Given the description of an element on the screen output the (x, y) to click on. 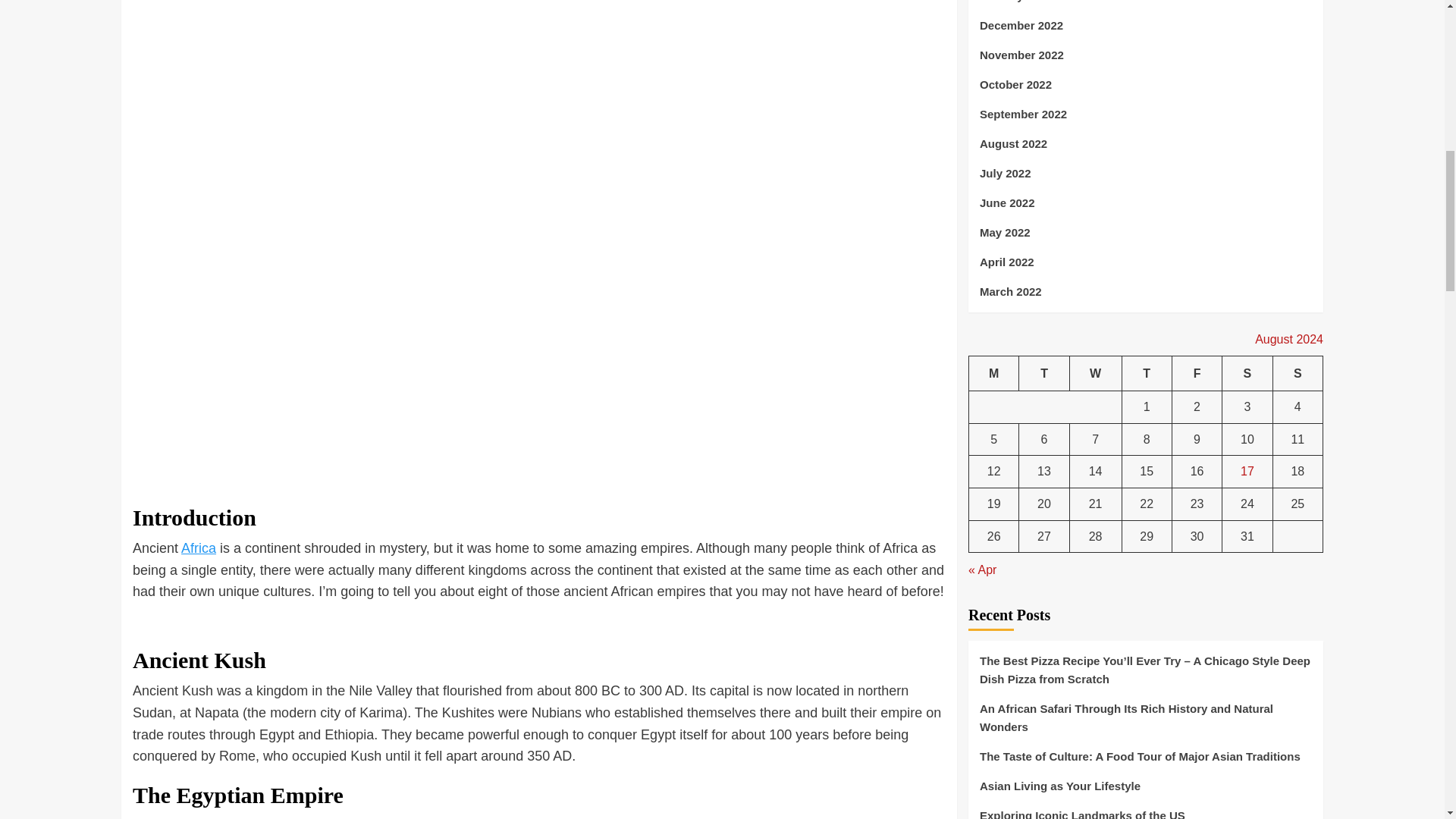
Saturday (1247, 373)
Monday (994, 373)
Thursday (1146, 373)
Africa (197, 548)
Friday (1196, 373)
Sunday (1297, 373)
Tuesday (1043, 373)
Wednesday (1094, 373)
